Given the description of an element on the screen output the (x, y) to click on. 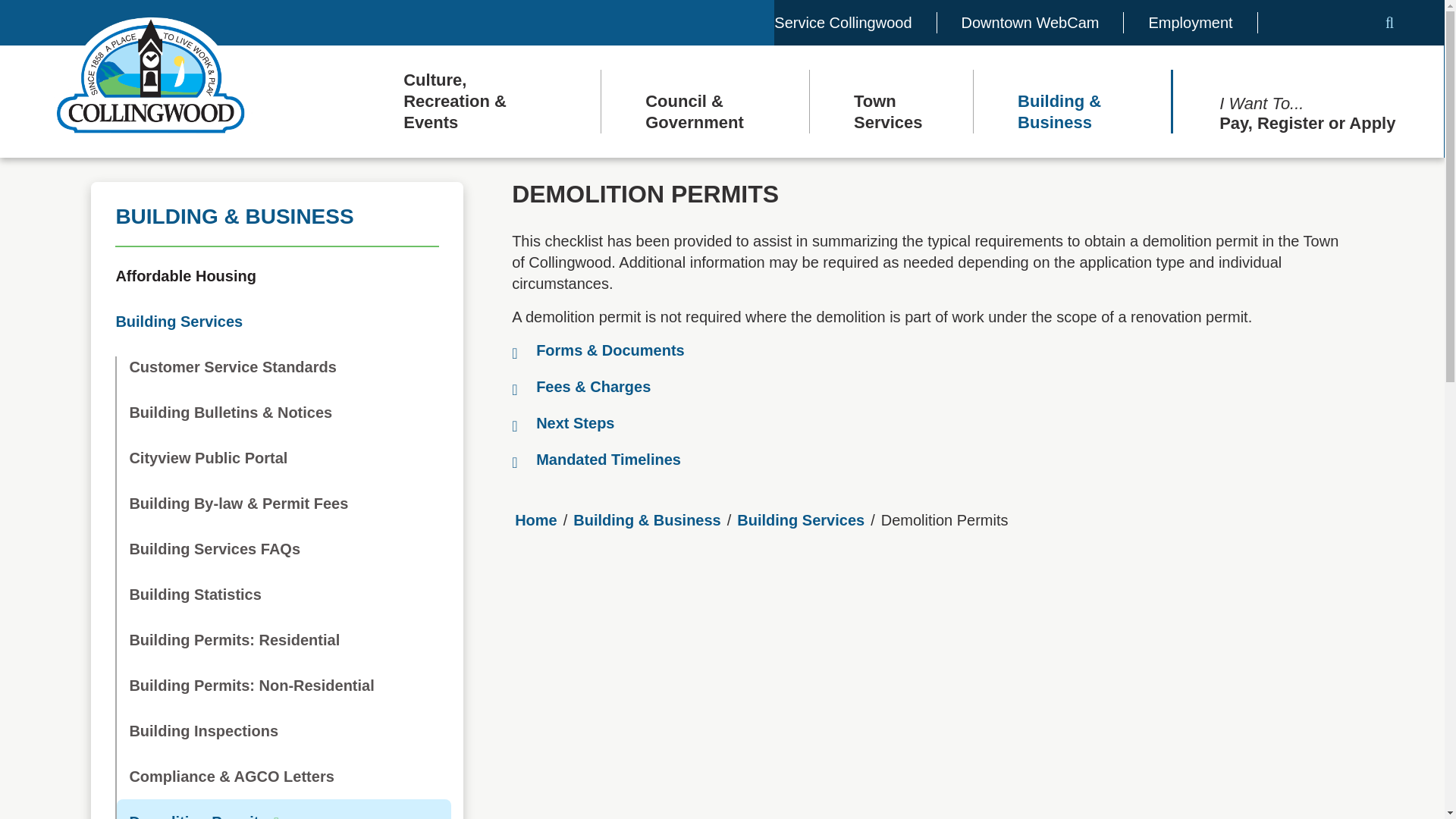
Service Collingwood (842, 22)
Employment (1189, 22)
Home (150, 78)
Downtown WebCam (1029, 22)
Enter the terms you wish to search for. (1339, 22)
